Given the description of an element on the screen output the (x, y) to click on. 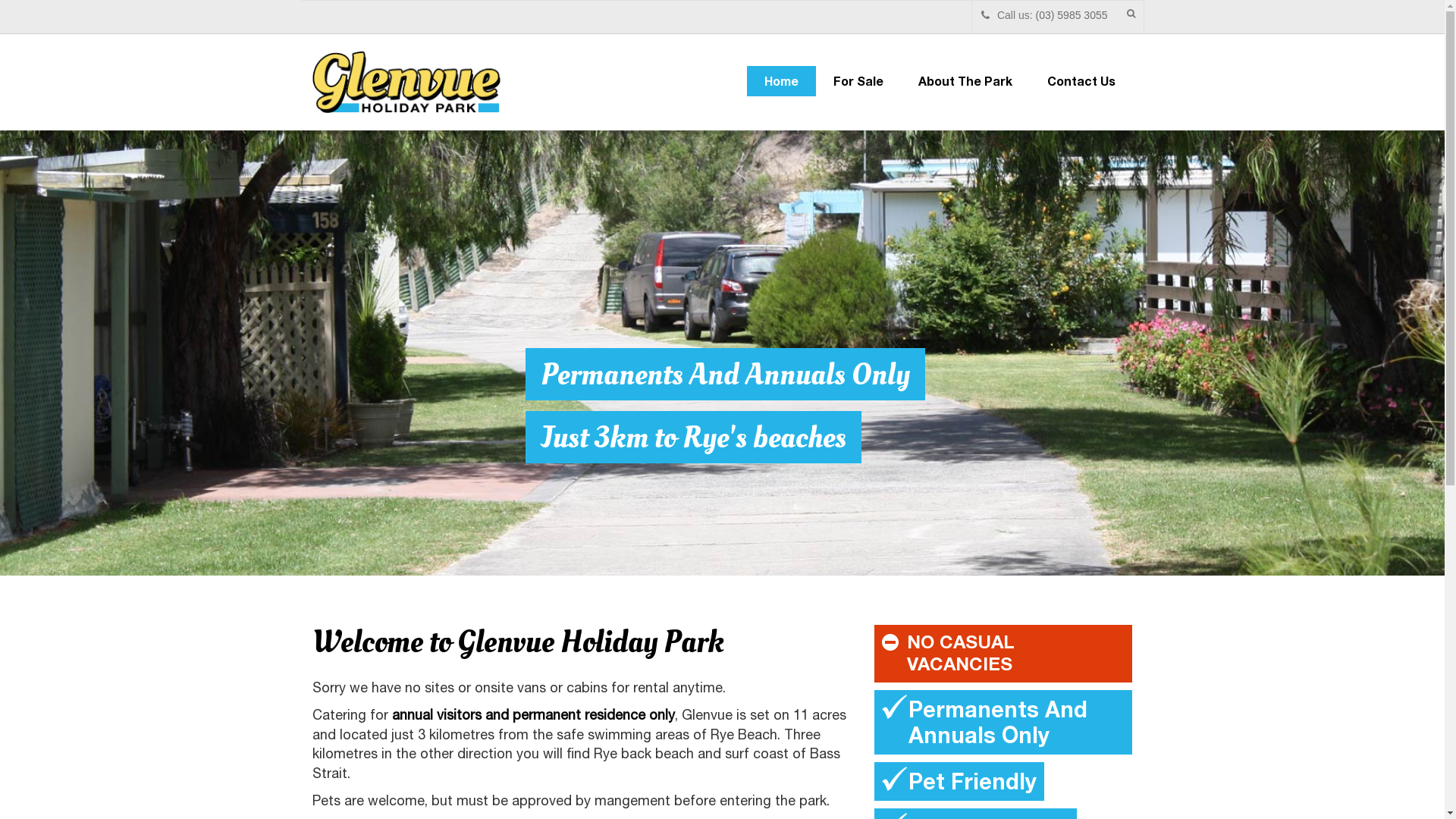
For Sale Element type: text (857, 80)
Home Element type: text (780, 80)
Contact Us Element type: text (1080, 80)
(03) 5985 3055 Element type: text (1071, 15)
About The Park Element type: text (964, 80)
